Given the description of an element on the screen output the (x, y) to click on. 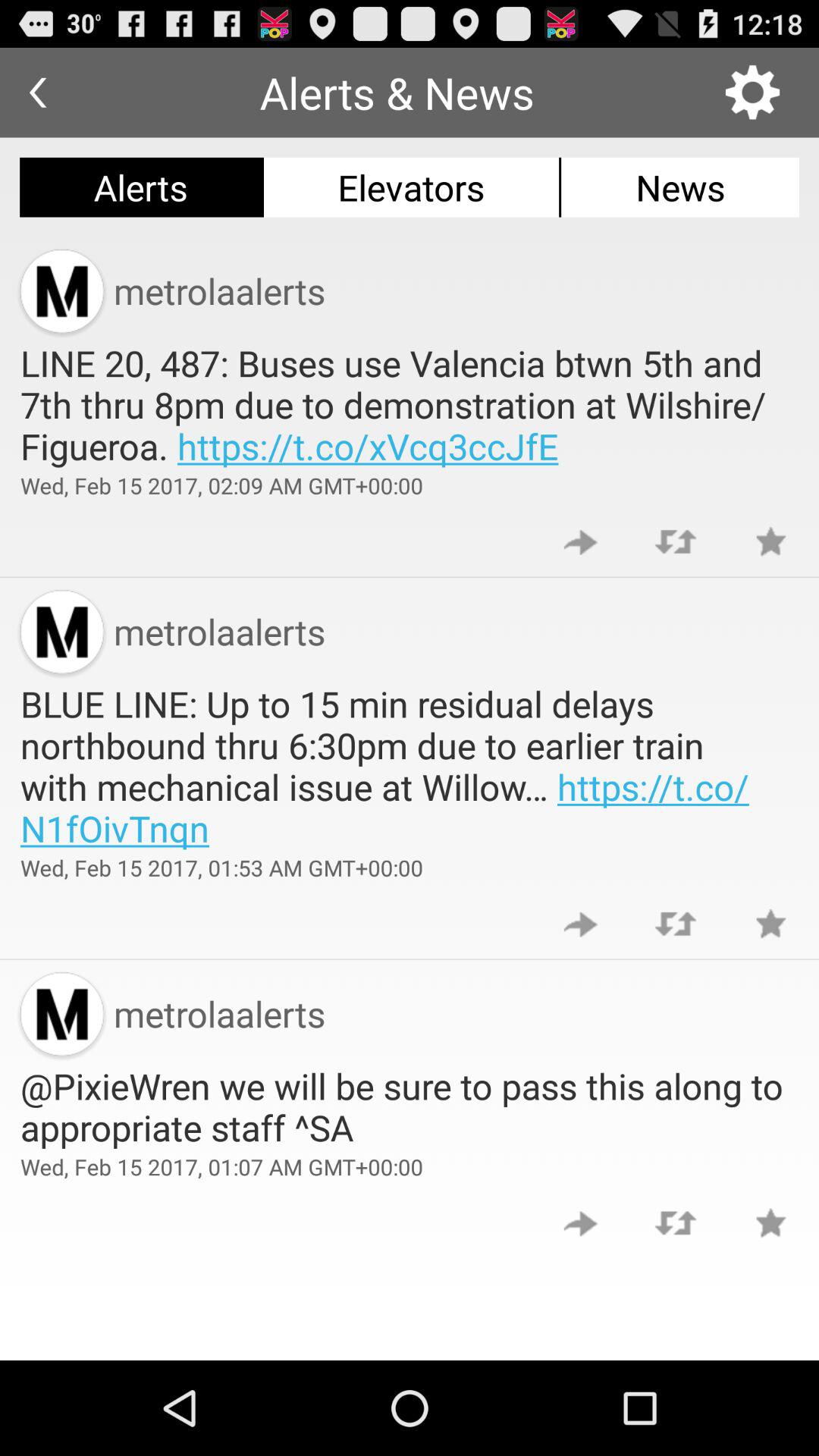
launch the app above the metrolaalerts item (411, 187)
